Given the description of an element on the screen output the (x, y) to click on. 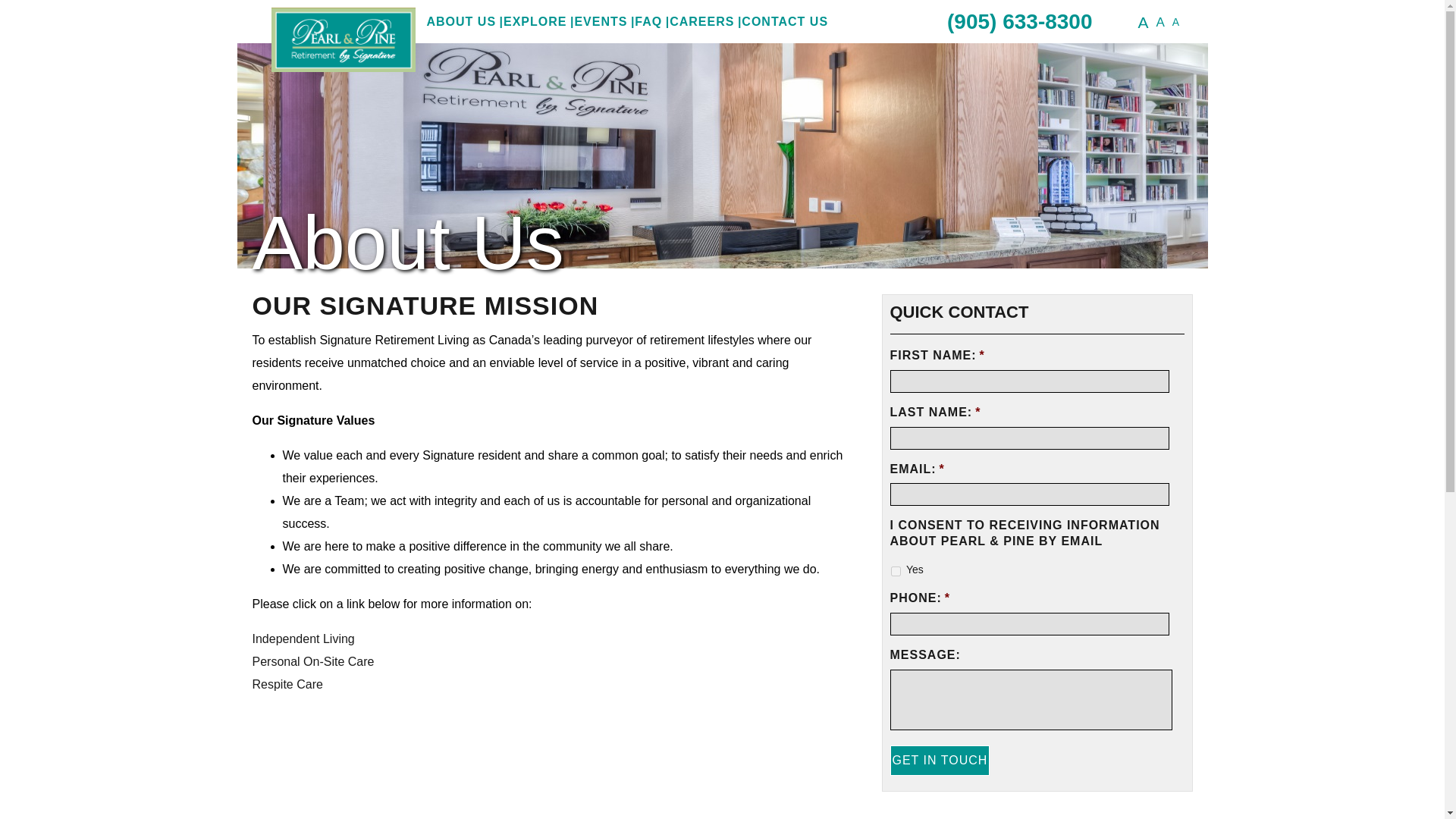
Independent Living (302, 638)
FAQ (648, 21)
Get In Touch (939, 760)
Yes (894, 571)
CONTACT US (784, 21)
EXPLORE (534, 21)
Respite Care (286, 684)
ABOUT US (461, 21)
Pearl and Pine (342, 41)
Independent Living (302, 638)
CAREERS (701, 21)
Get In Touch (939, 760)
Personal On-Site Care (312, 661)
EVENTS (600, 21)
  VIEW GALLERY (958, 812)
